Given the description of an element on the screen output the (x, y) to click on. 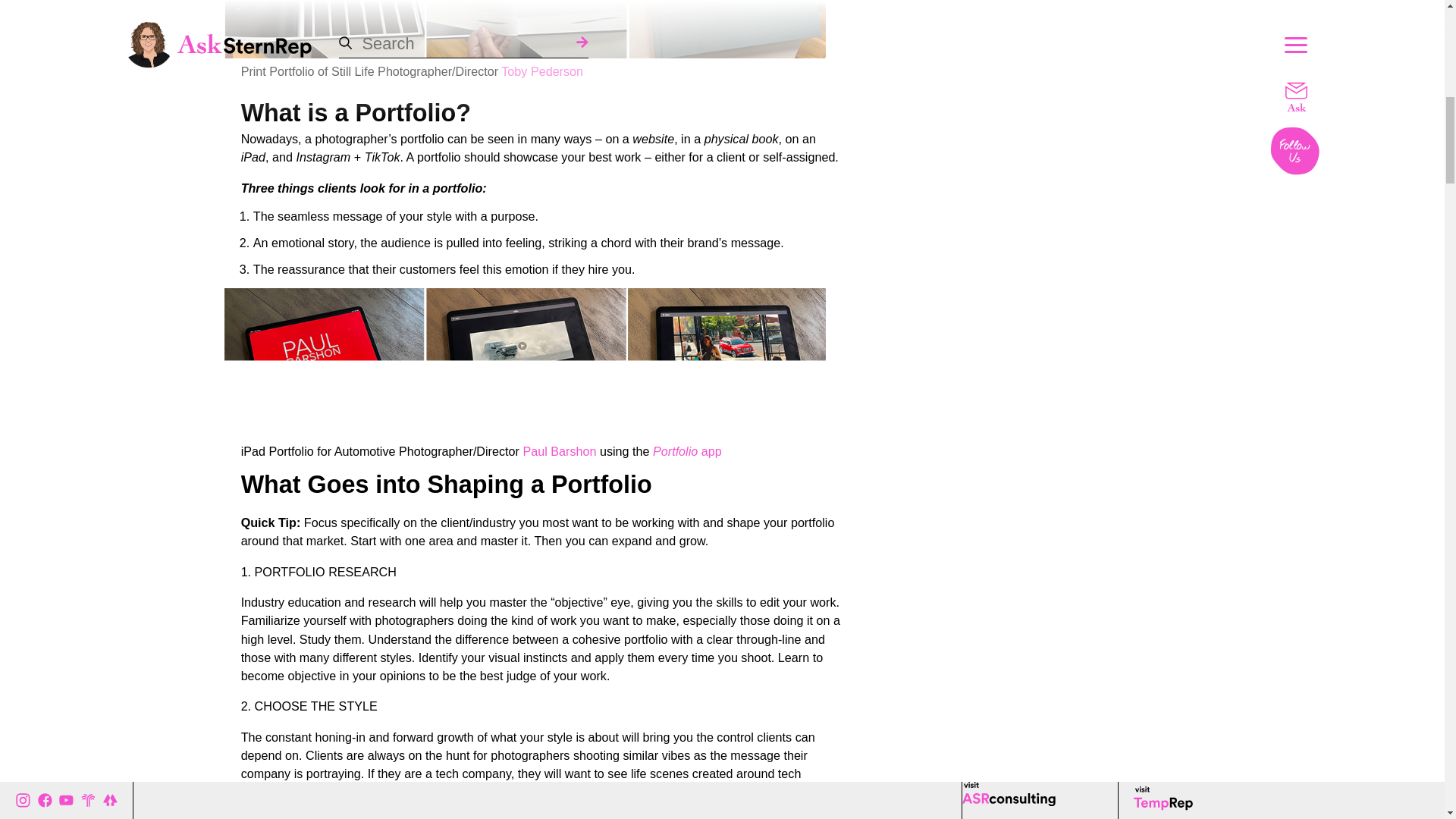
Toby Pederson (541, 70)
Paul Barshon (558, 450)
Portfolio app (687, 450)
